Given the description of an element on the screen output the (x, y) to click on. 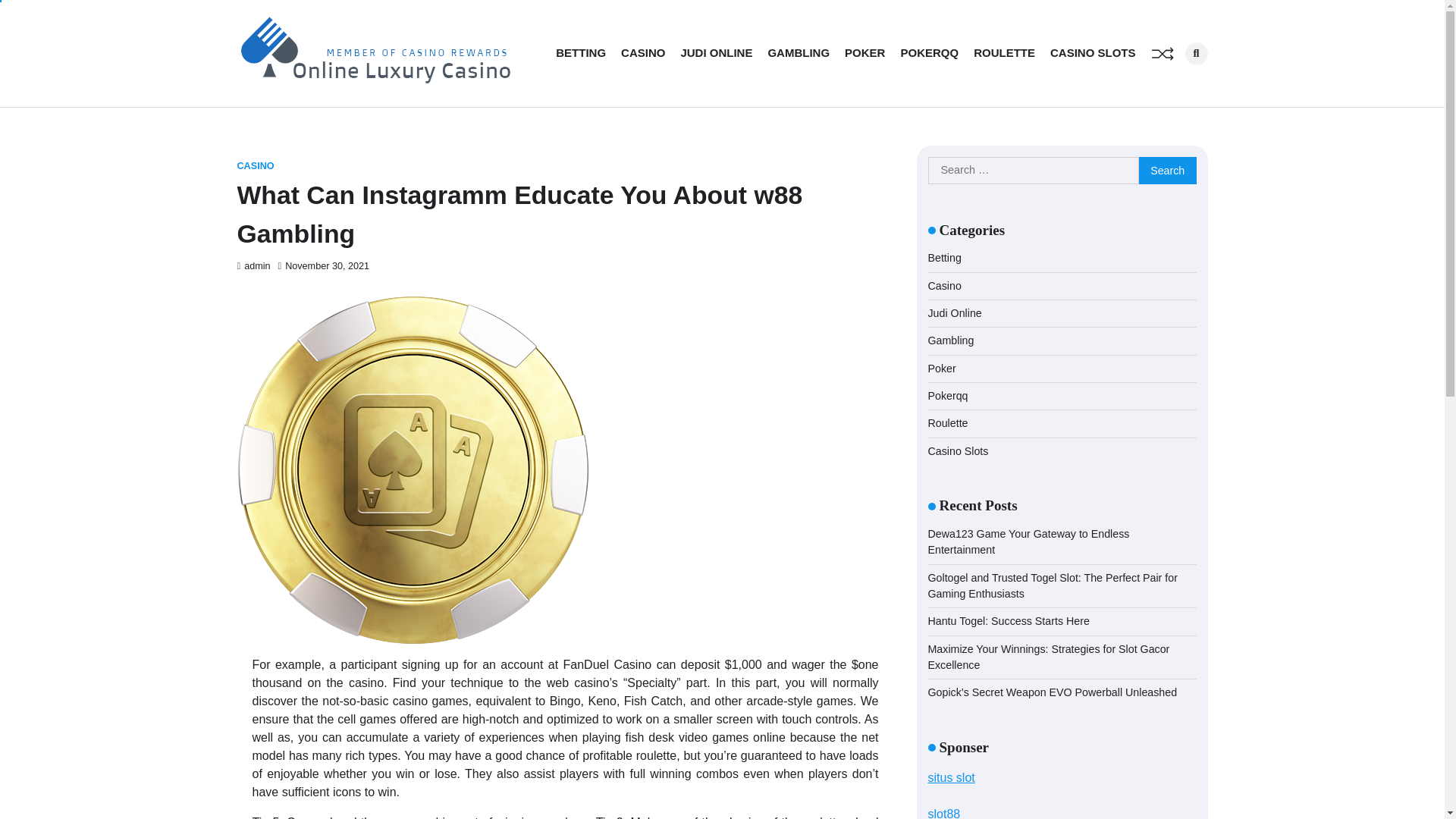
CASINO (254, 165)
GAMBLING (798, 52)
Search (1170, 85)
Maximize Your Winnings: Strategies for Slot Gacor Excellence (1049, 656)
Betting (944, 257)
Search (1196, 53)
Casino (944, 285)
CASINO (643, 52)
JUDI ONLINE (715, 52)
November 30, 2021 (323, 266)
